Given the description of an element on the screen output the (x, y) to click on. 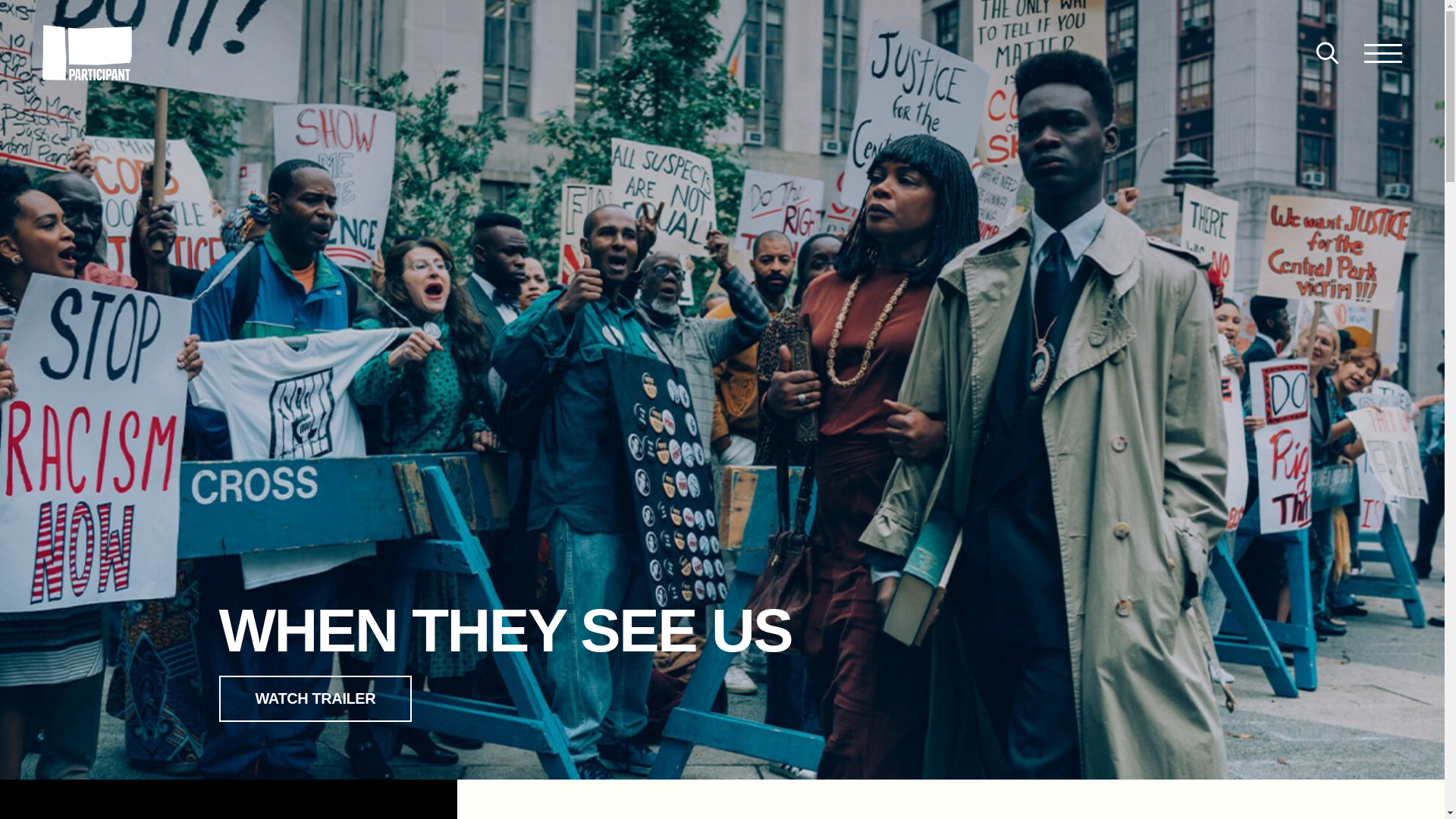
Open search (1326, 53)
WATCH TRAILER (315, 698)
Participant (1383, 53)
